Given the description of an element on the screen output the (x, y) to click on. 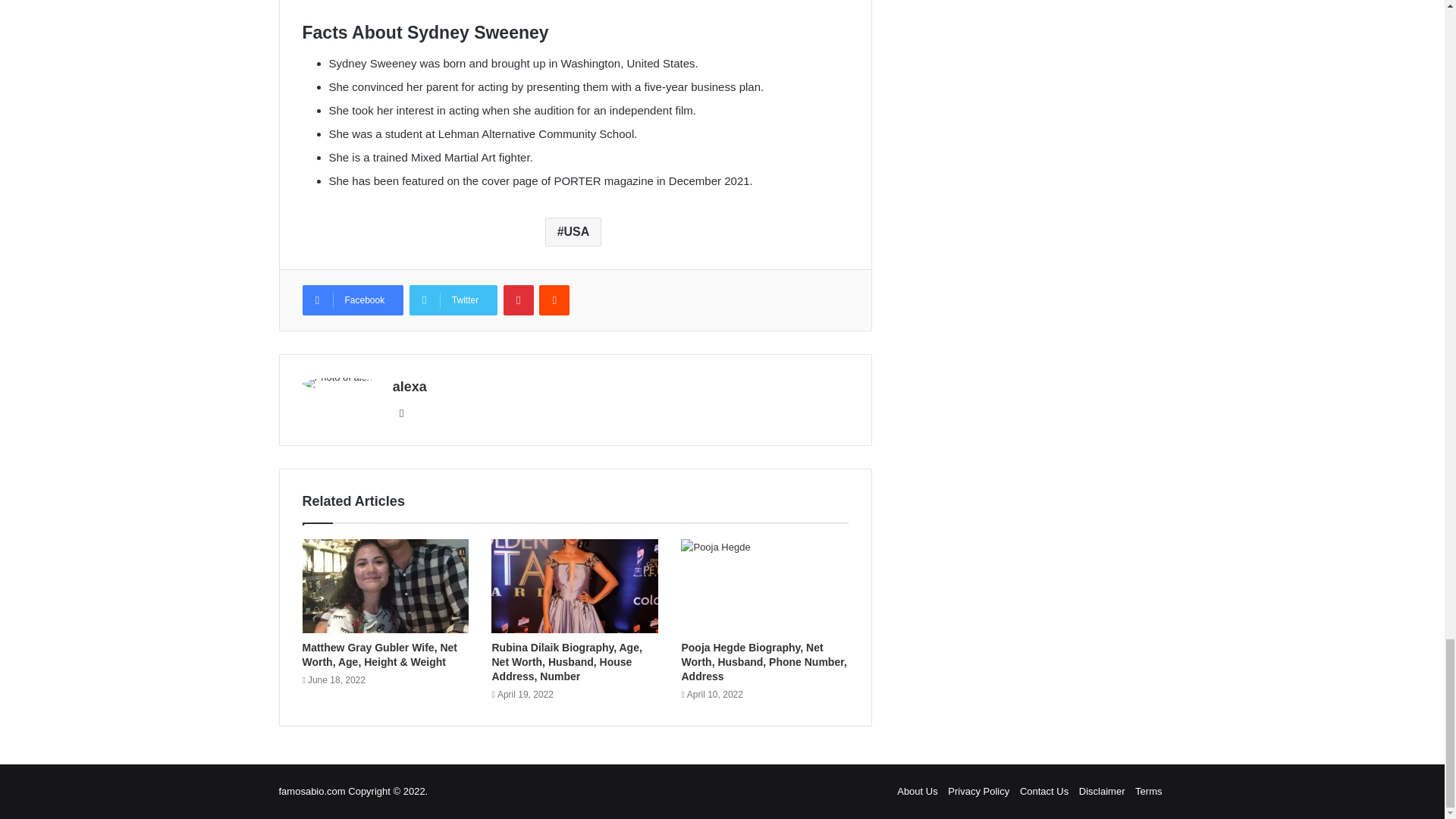
Reddit (553, 300)
Reddit (553, 300)
Website (401, 413)
Twitter (453, 300)
alexa (409, 386)
USA (573, 231)
Pinterest (518, 300)
Facebook (352, 300)
Pinterest (518, 300)
